Given the description of an element on the screen output the (x, y) to click on. 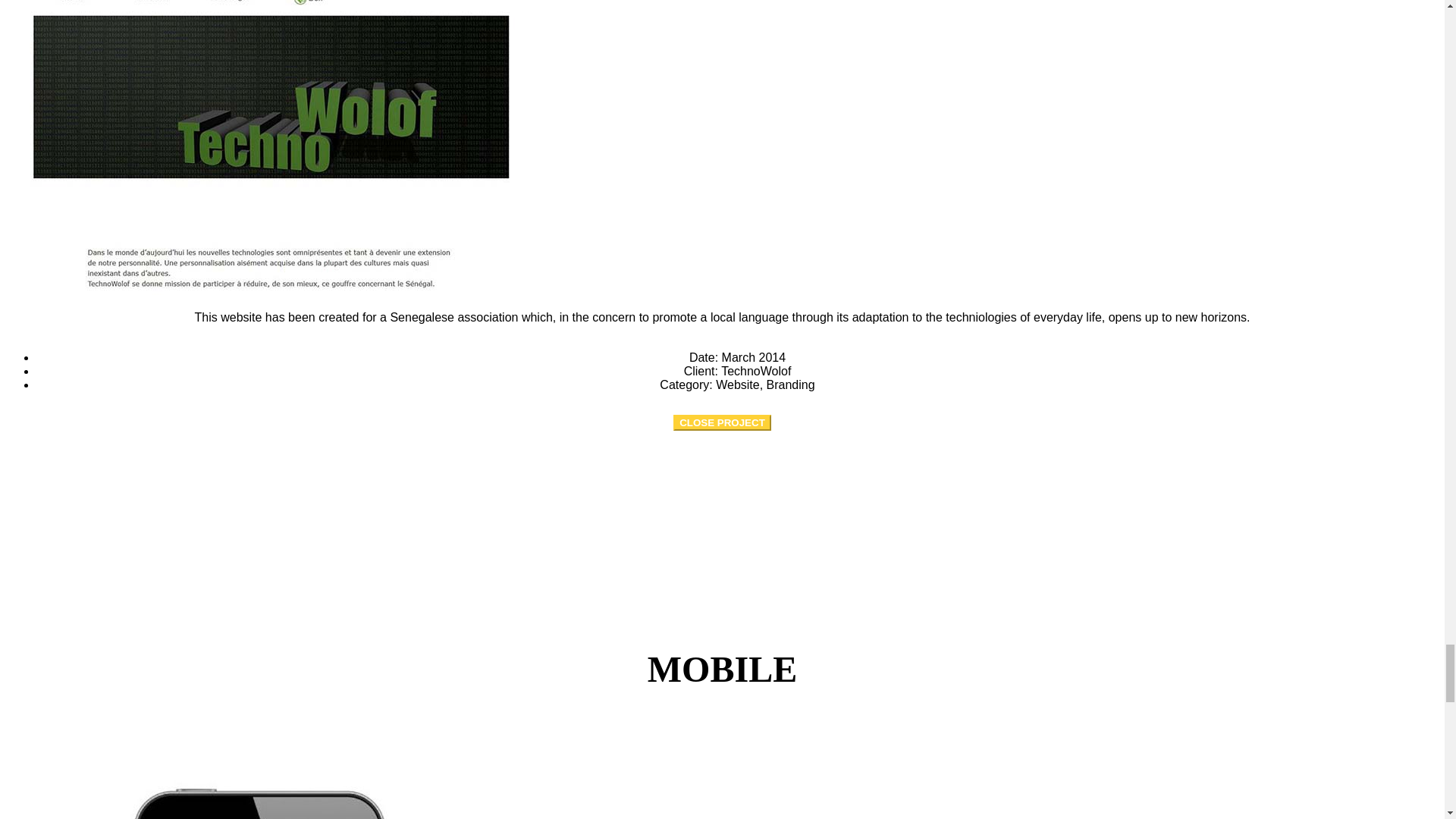
CLOSE PROJECT (721, 422)
